Given the description of an element on the screen output the (x, y) to click on. 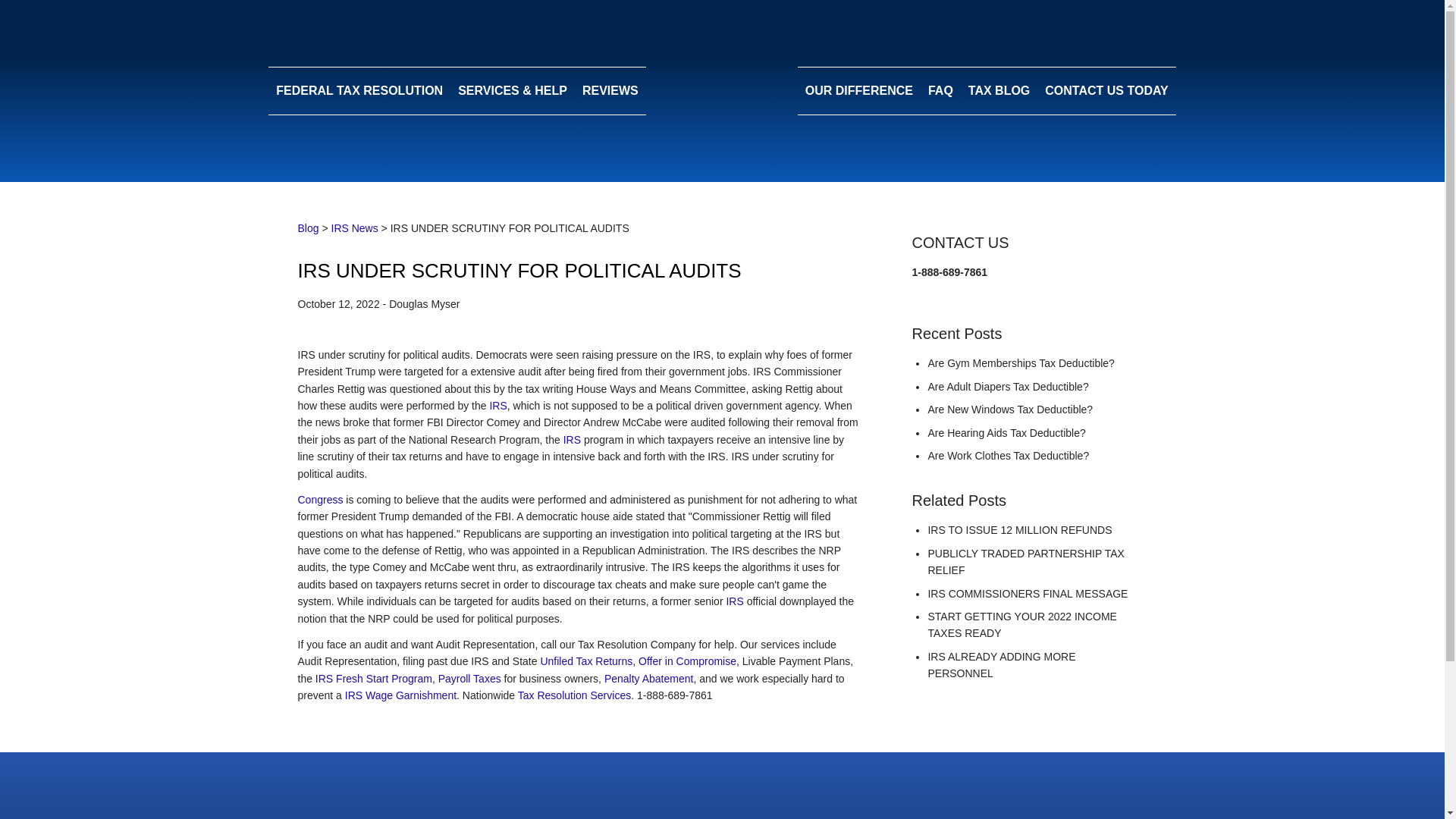
OUR DIFFERENCE (858, 90)
FAQ (940, 90)
FEDERAL TAX RESOLUTION (359, 90)
REVIEWS (610, 90)
TAX BLOG (998, 90)
LOGO (722, 90)
